Given the description of an element on the screen output the (x, y) to click on. 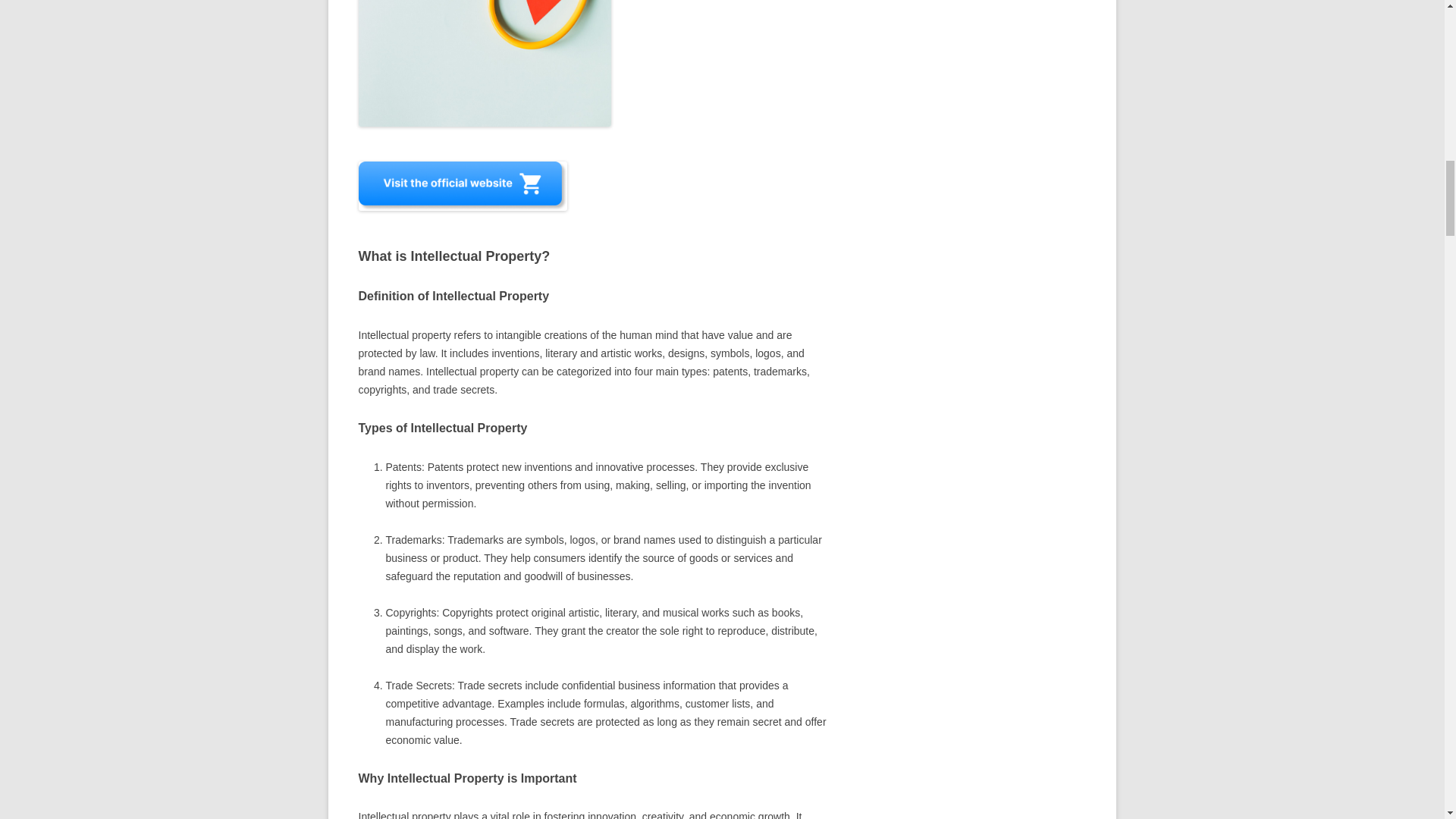
Intellectual Property Lawyer South Salt Lake Utah (484, 63)
